Given the description of an element on the screen output the (x, y) to click on. 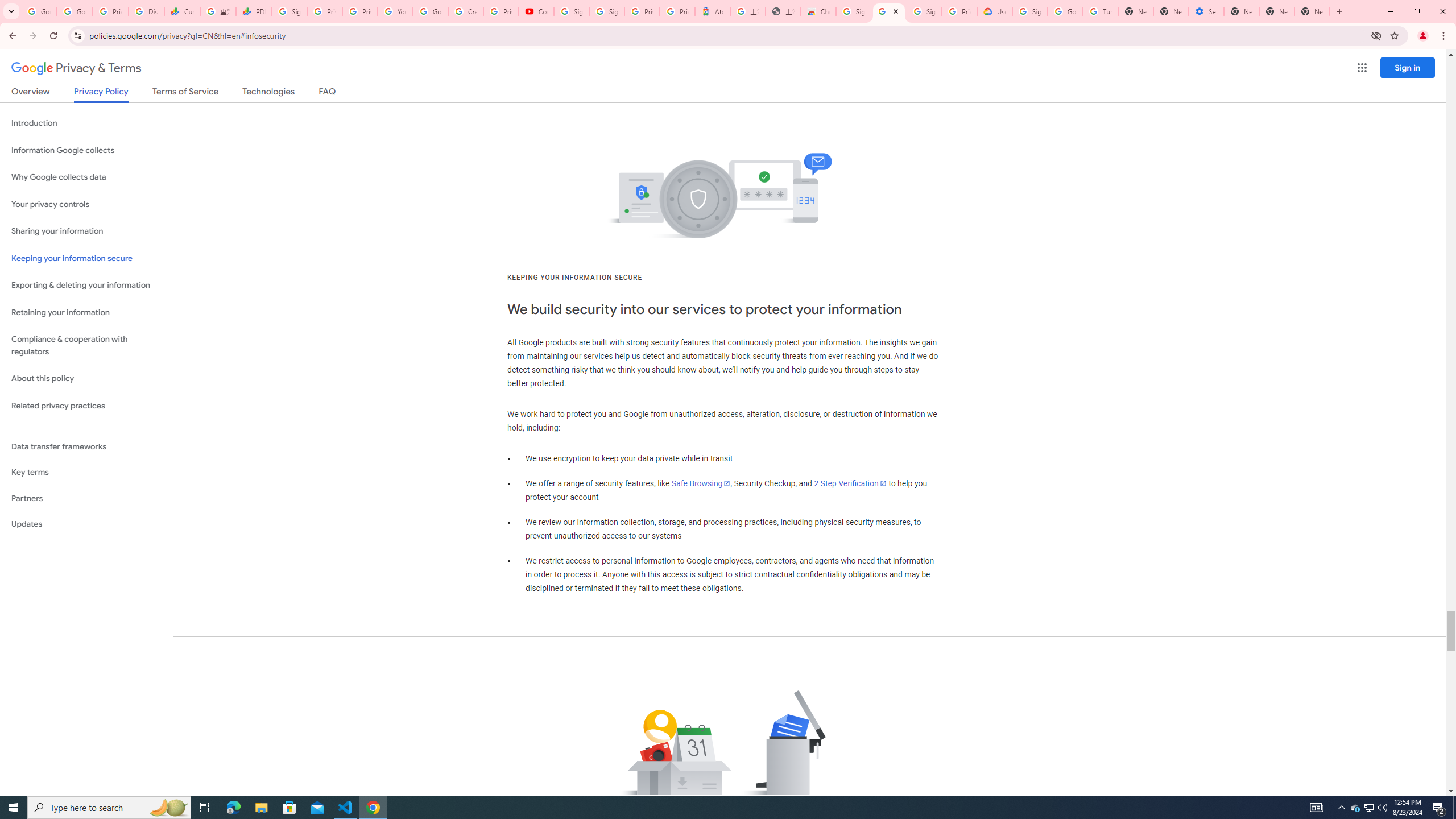
Exporting & deleting your information (86, 284)
New Tab (1312, 11)
Safe Browsing (700, 483)
Sign in - Google Accounts (288, 11)
Content Creator Programs & Opportunities - YouTube Creators (536, 11)
Sign in - Google Accounts (605, 11)
2 Step Verification (849, 483)
Related privacy practices (86, 405)
